Given the description of an element on the screen output the (x, y) to click on. 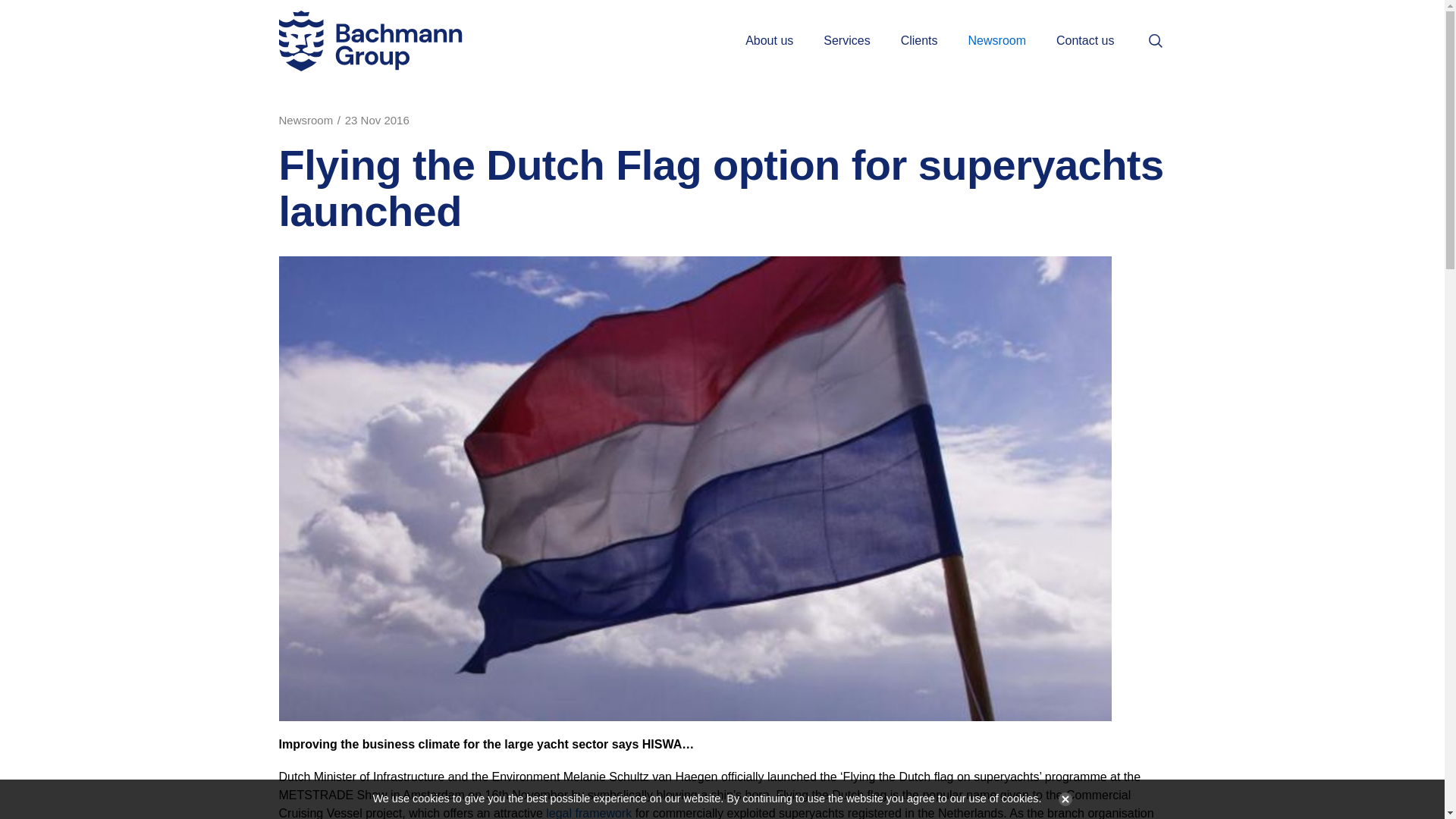
Continue (1061, 799)
Services (846, 40)
About us (769, 40)
